Given the description of an element on the screen output the (x, y) to click on. 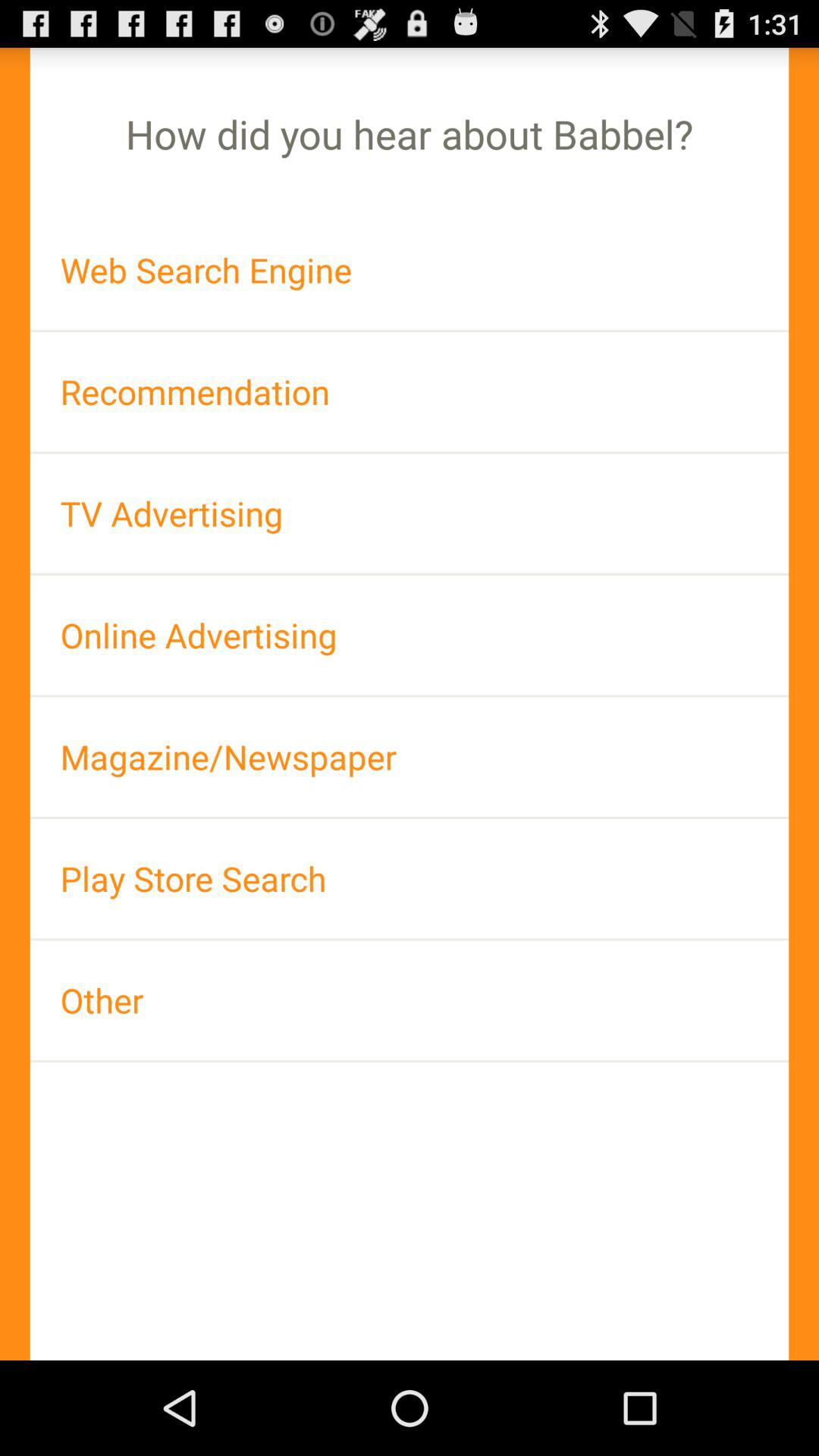
scroll until the recommendation (409, 391)
